Given the description of an element on the screen output the (x, y) to click on. 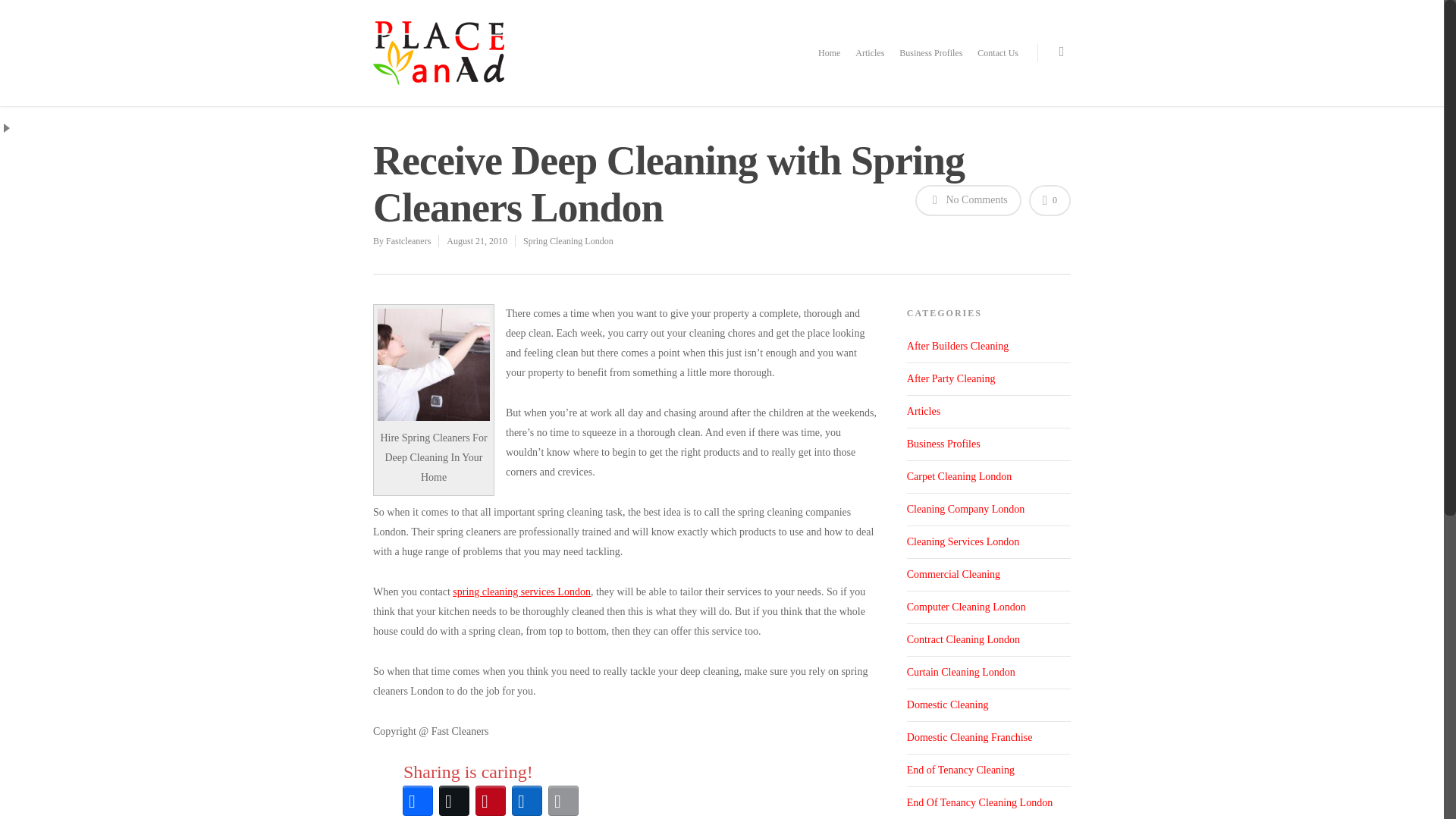
Carpet Cleaning London (988, 477)
Pinterest (489, 800)
Articles (988, 411)
Business Profiles (930, 63)
LinkedIn (526, 800)
After Party Cleaning (988, 379)
After Builders Cleaning (988, 349)
Business Profiles (988, 444)
No Comments (968, 200)
Home (829, 63)
Curtain Cleaning London (988, 672)
0 (1049, 200)
Love this (1049, 200)
Cleaning Services London (988, 542)
End Of Tenancy Cleaning London (988, 803)
